Given the description of an element on the screen output the (x, y) to click on. 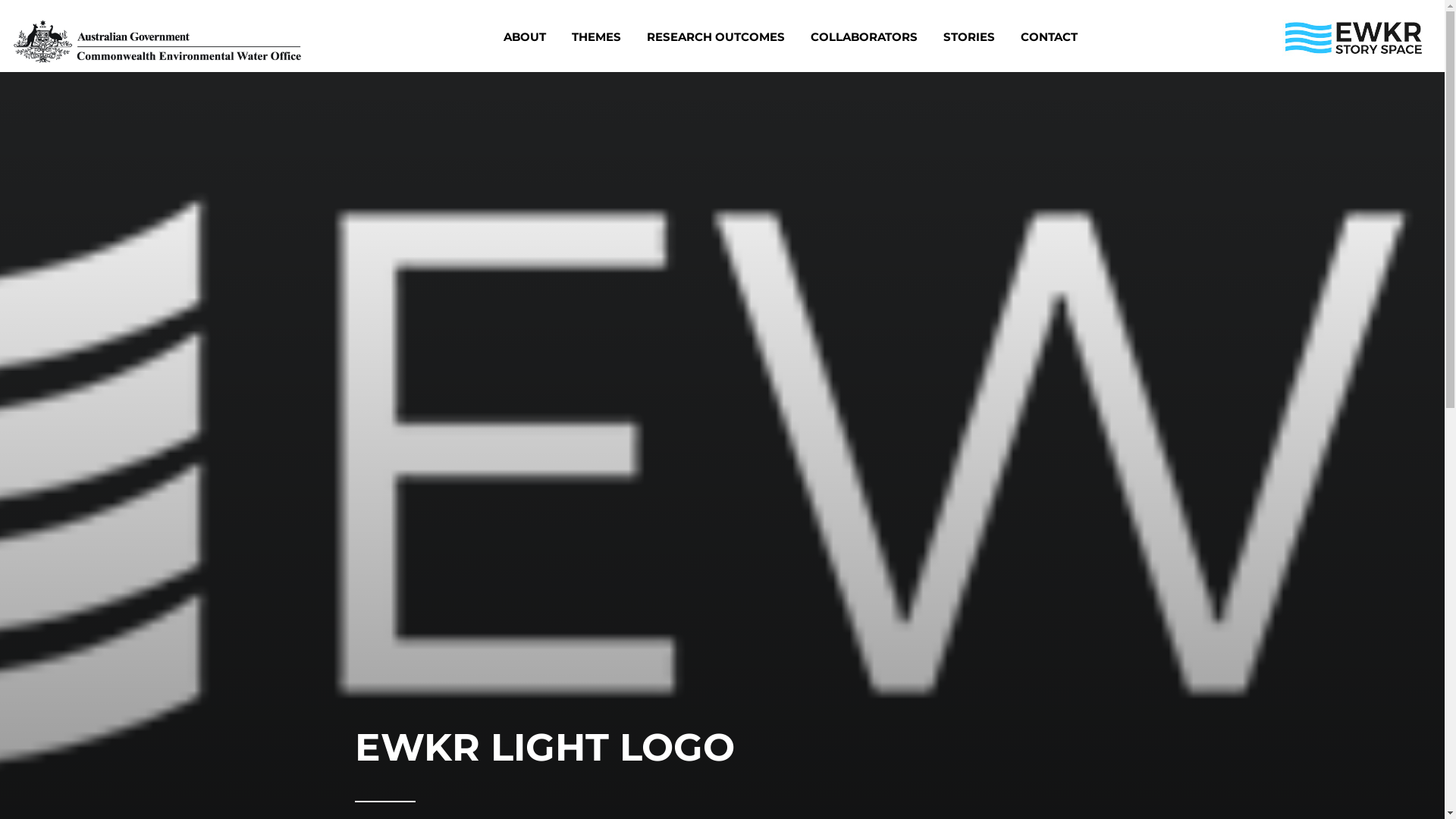
Skip to content Element type: text (310, 15)
CONTACT Element type: text (1048, 36)
STORIES Element type: text (968, 36)
THEMES Element type: text (596, 36)
COLLABORATORS Element type: text (863, 36)
RESEARCH OUTCOMES Element type: text (715, 36)
ABOUT Element type: text (524, 36)
